Given the description of an element on the screen output the (x, y) to click on. 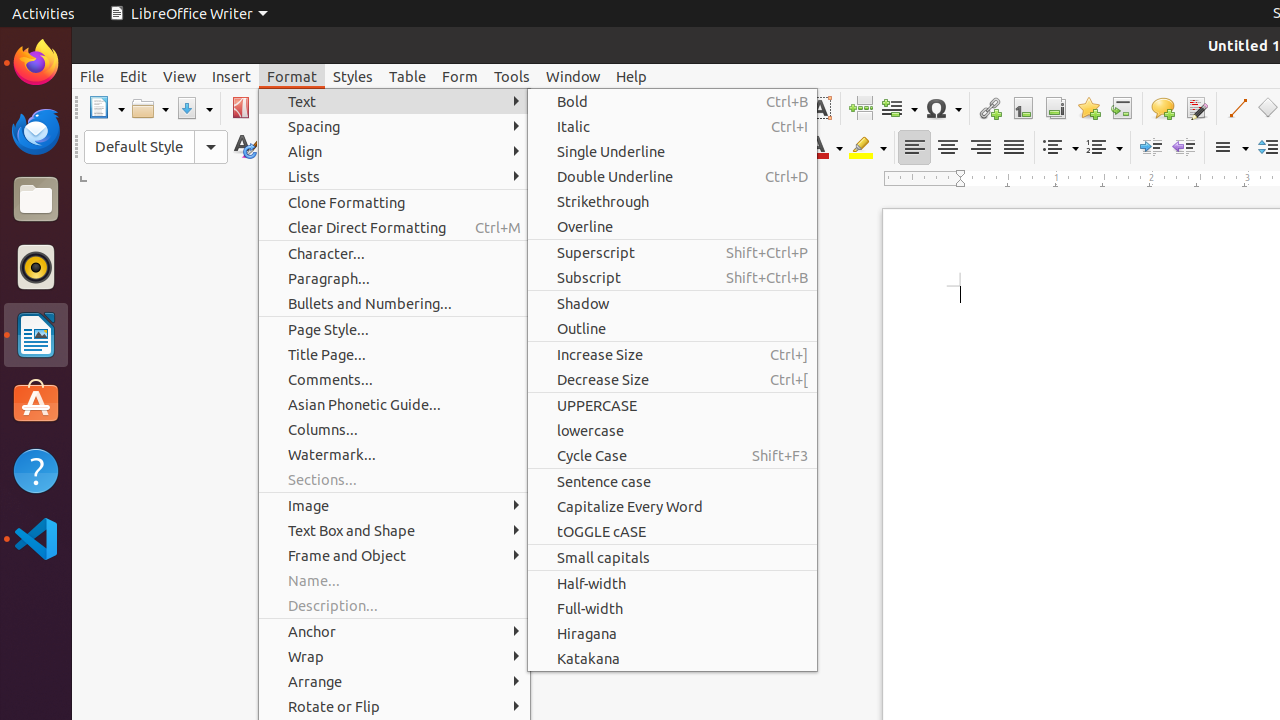
Format Element type: menu (292, 76)
Description... Element type: menu-item (394, 605)
Track Changes Functions Element type: toggle-button (1195, 108)
Cycle Case Element type: menu-item (672, 455)
Comments... Element type: menu-item (394, 379)
